Given the description of an element on the screen output the (x, y) to click on. 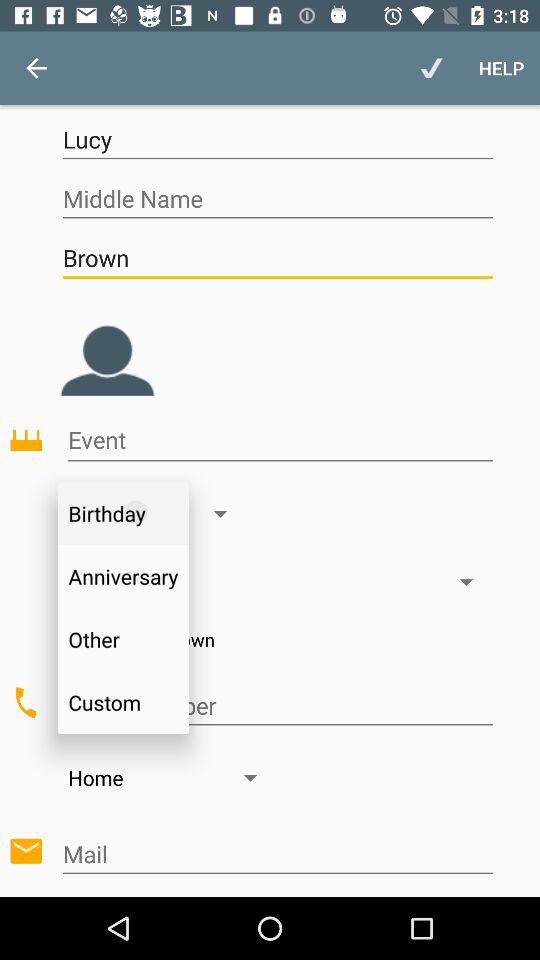
select the icon below the year unknown item (277, 705)
